Given the description of an element on the screen output the (x, y) to click on. 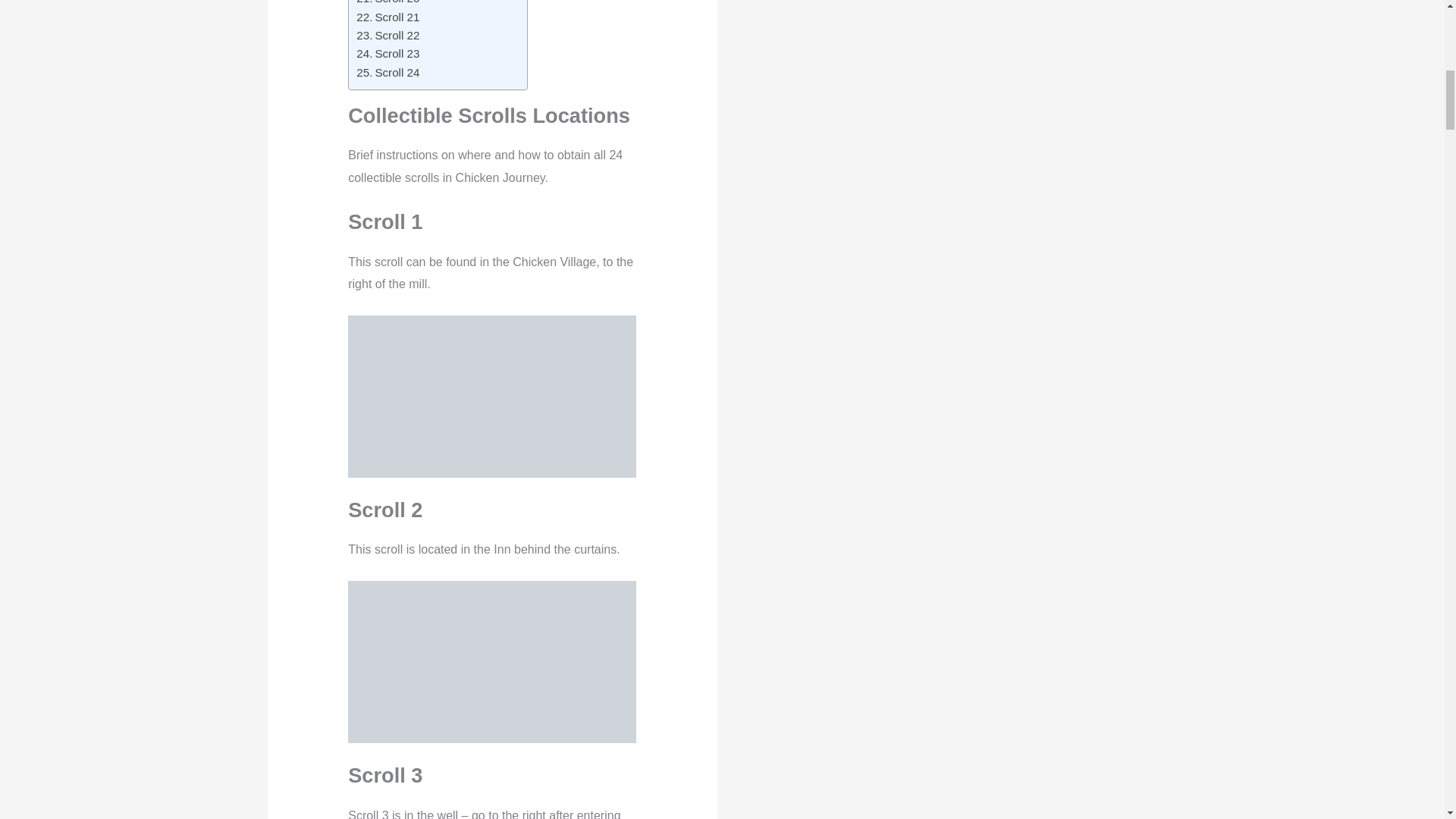
Scroll 21 (387, 17)
Scroll 22 (387, 35)
Scroll 20 (387, 3)
Scroll 24 (387, 72)
Scroll 23 (387, 54)
